Given the description of an element on the screen output the (x, y) to click on. 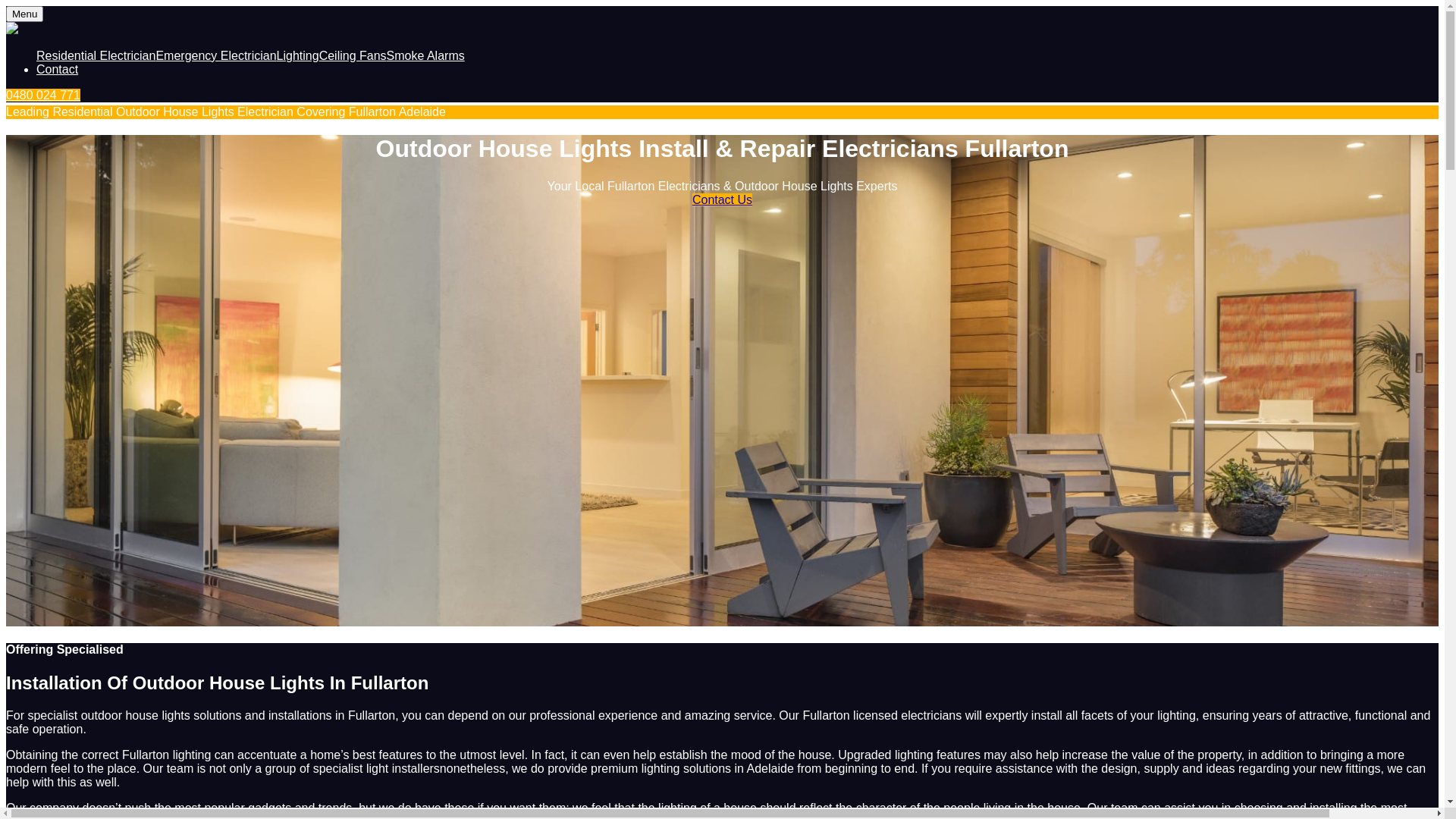
Menu Element type: text (24, 13)
Smoke Alarms Element type: text (425, 55)
Residential Electrician Element type: text (95, 55)
Emergency Electrician Element type: text (215, 55)
Contact Us Element type: text (722, 199)
Lighting Element type: text (297, 55)
0480 024 771 Element type: text (43, 94)
Contact Element type: text (57, 68)
Ceiling Fans Element type: text (352, 55)
